Given the description of an element on the screen output the (x, y) to click on. 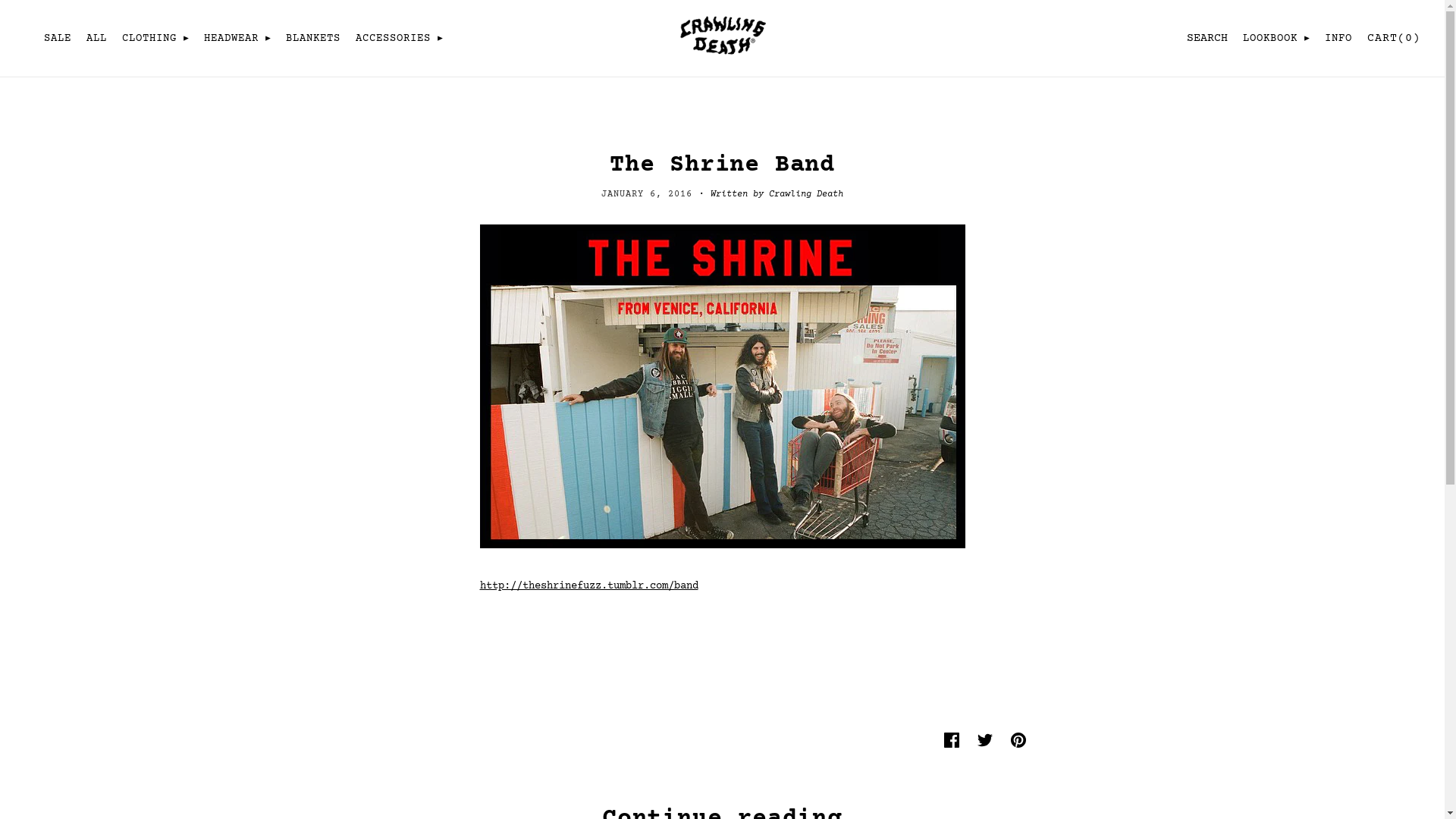
INFO Element type: text (1338, 38)
Crawling Death Element type: hover (722, 56)
http://theshrinefuzz.tumblr.com/band Element type: text (588, 586)
ACCESSORIES  Element type: text (399, 38)
SALE Element type: text (57, 38)
CART
(0) Element type: text (1392, 37)
CLOTHING  Element type: text (155, 38)
BLANKETS Element type: text (313, 38)
ALL Element type: text (96, 38)
LOOKBOOK  Element type: text (1276, 38)
HEADWEAR  Element type: text (237, 38)
